Given the description of an element on the screen output the (x, y) to click on. 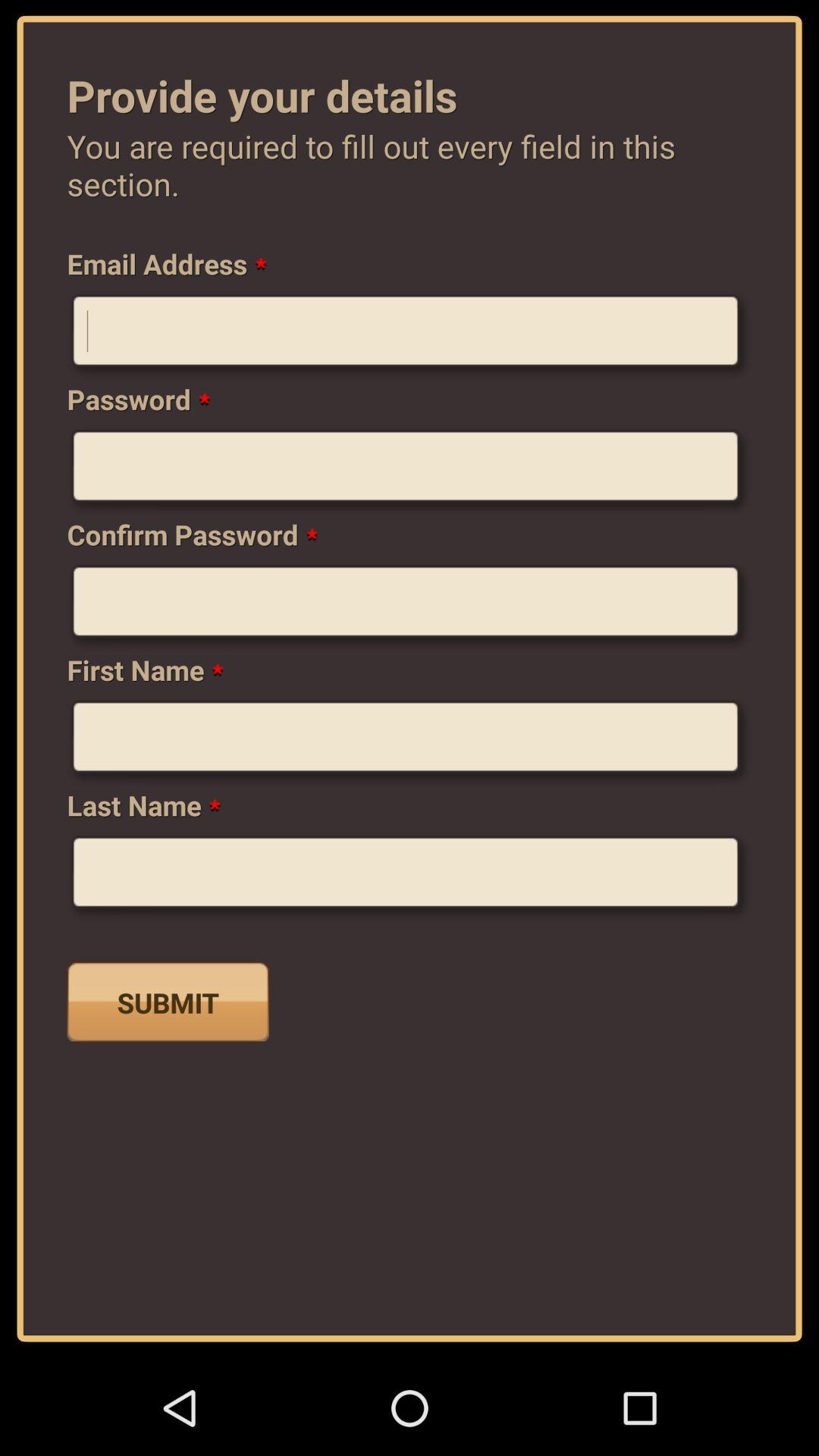
enter your last name here (409, 877)
